Given the description of an element on the screen output the (x, y) to click on. 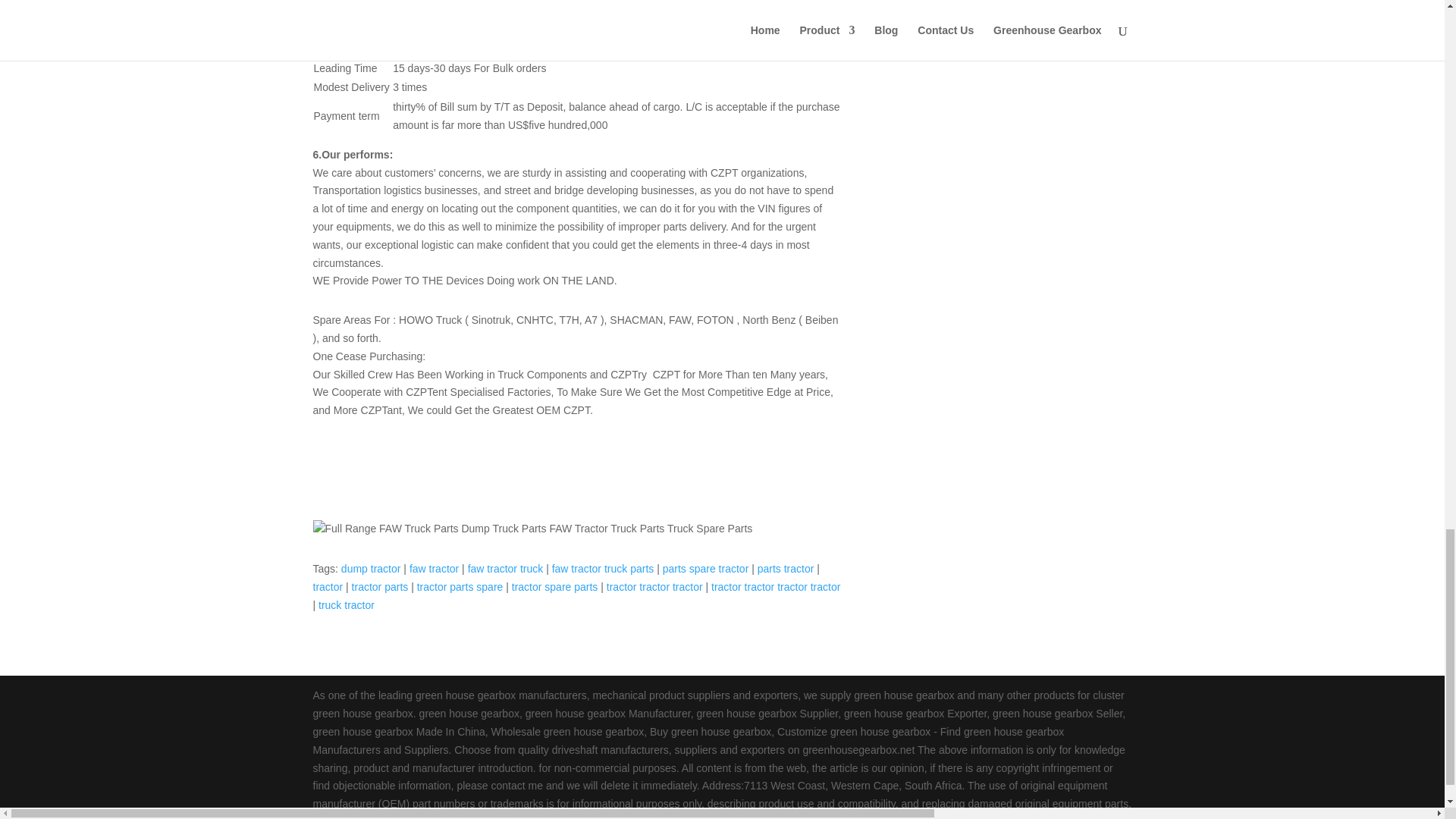
parts spare tractor (705, 568)
tractor tractor tractor (655, 586)
faw tractor truck parts (602, 568)
truck tractor (346, 604)
parts tractor (785, 568)
faw tractor truck (505, 568)
dump tractor (370, 568)
tractor tractor tractor tractor (775, 586)
tractor parts spare (459, 586)
tractor (327, 586)
